Given the description of an element on the screen output the (x, y) to click on. 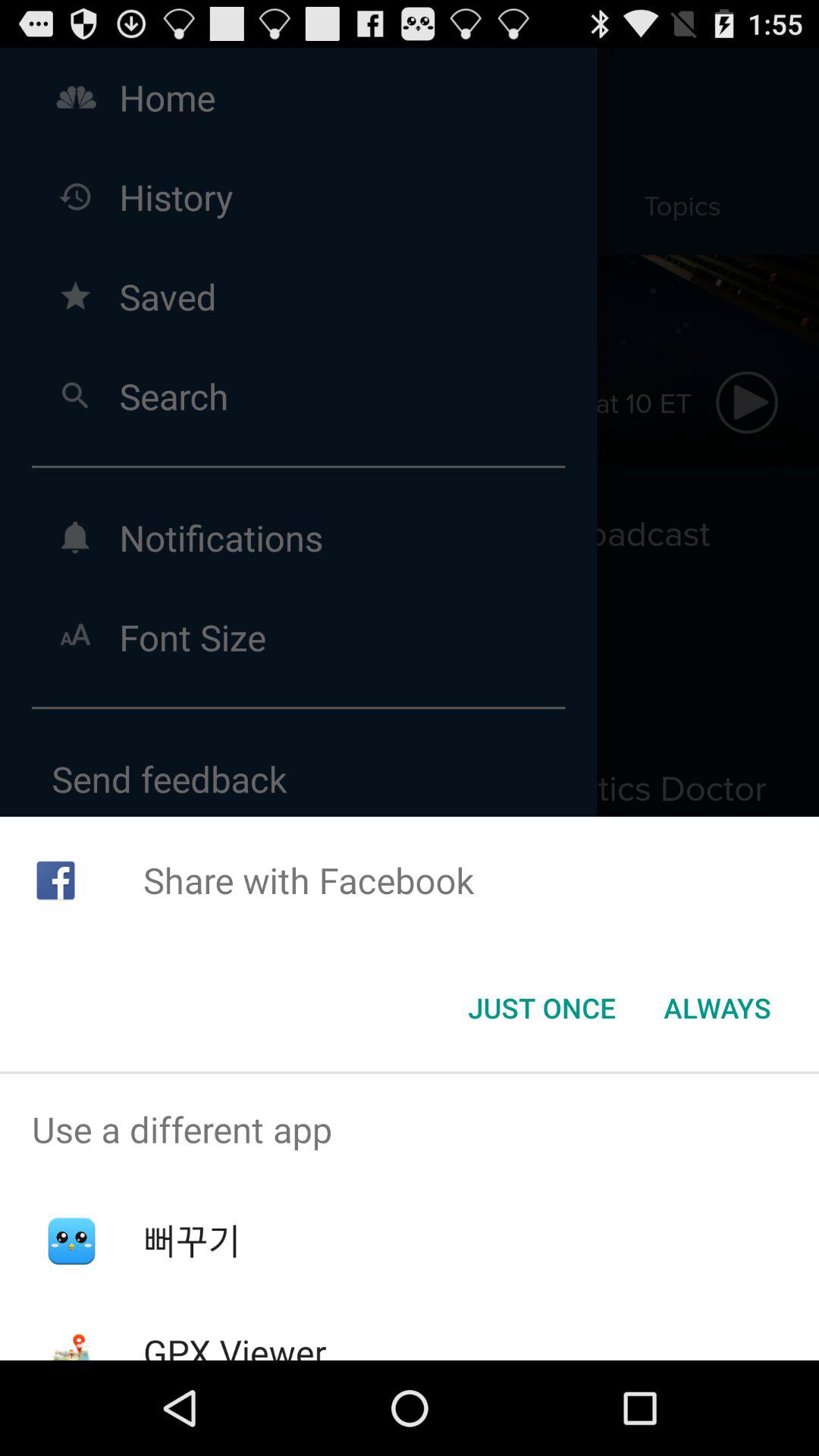
scroll until just once (541, 1007)
